Given the description of an element on the screen output the (x, y) to click on. 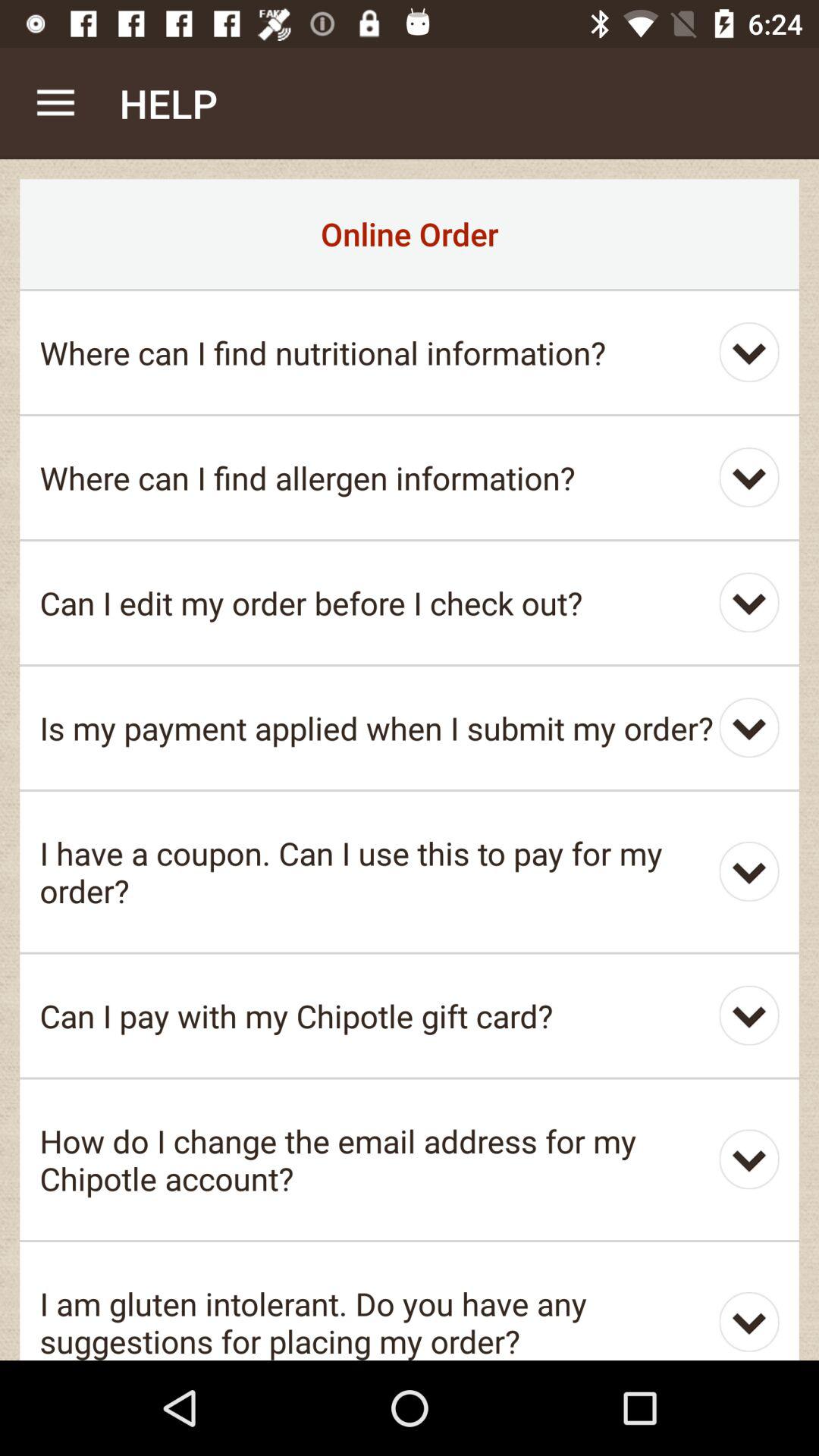
scroll to the online order item (409, 233)
